Given the description of an element on the screen output the (x, y) to click on. 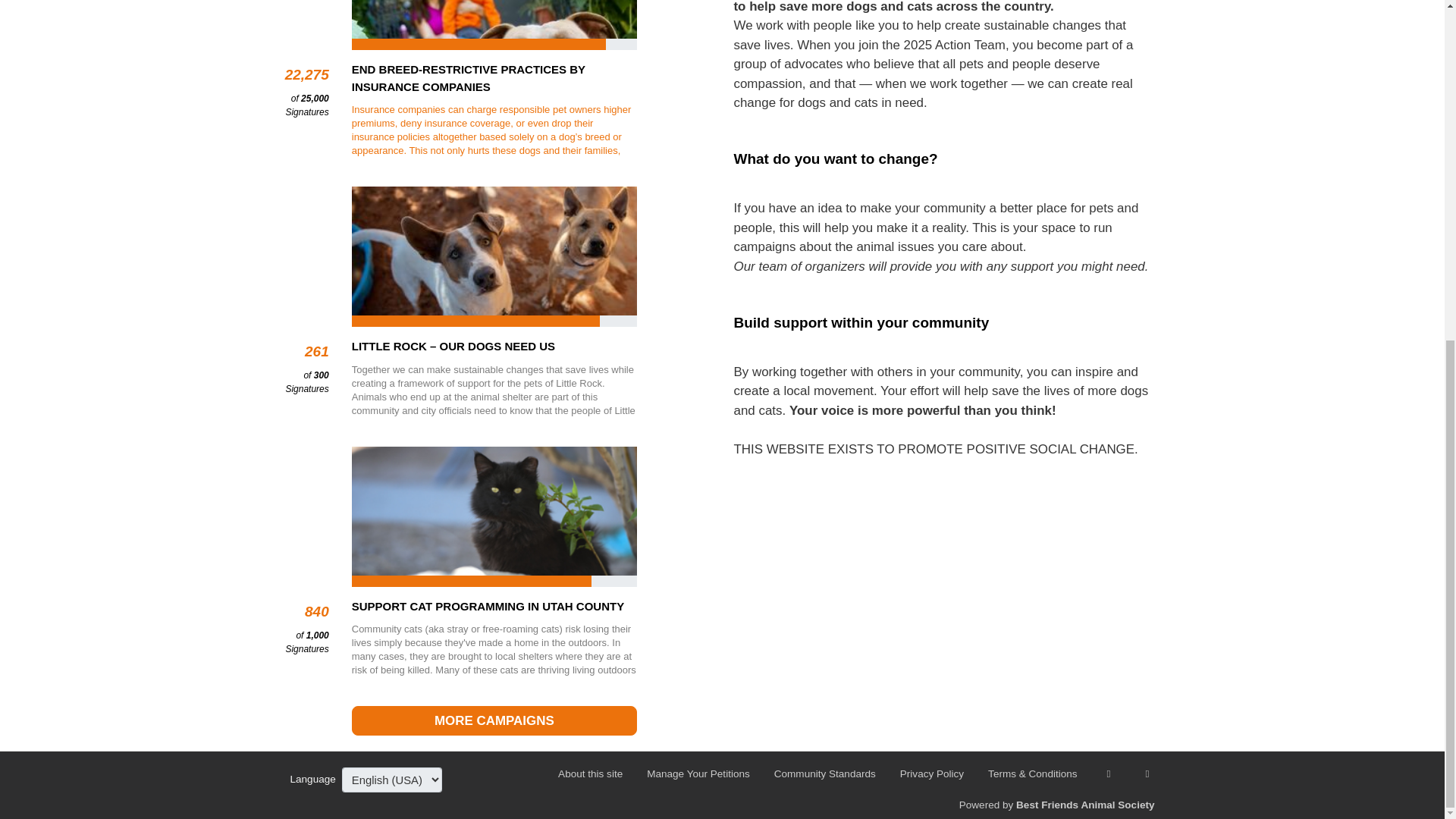
Facebook (1096, 774)
Twitter (1135, 774)
About this site (590, 774)
Best Friends Animal Society (1085, 804)
MORE CAMPAIGNS (494, 720)
Community Standards (812, 774)
Manage Your Petitions (686, 774)
END BREED-RESTRICTIVE PRACTICES BY INSURANCE COMPANIES (494, 78)
Privacy Policy (919, 774)
